Given the description of an element on the screen output the (x, y) to click on. 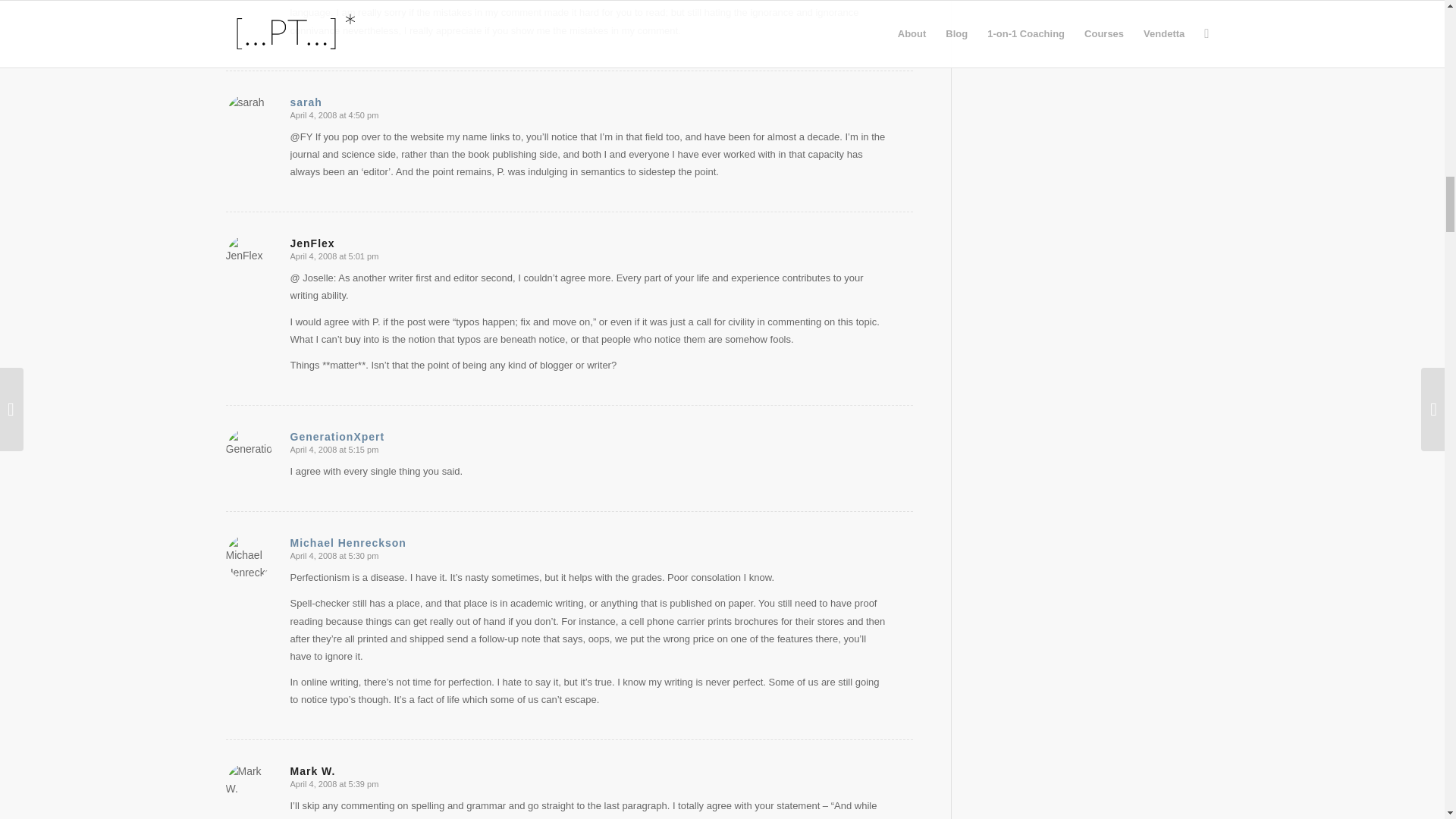
April 4, 2008 at 4:50 pm (333, 114)
April 4, 2008 at 5:30 pm (333, 555)
GenerationXpert (336, 436)
April 4, 2008 at 5:01 pm (333, 256)
Michael Henreckson (347, 542)
sarah (305, 102)
April 4, 2008 at 5:15 pm (333, 449)
April 4, 2008 at 5:39 pm (333, 783)
